Given the description of an element on the screen output the (x, y) to click on. 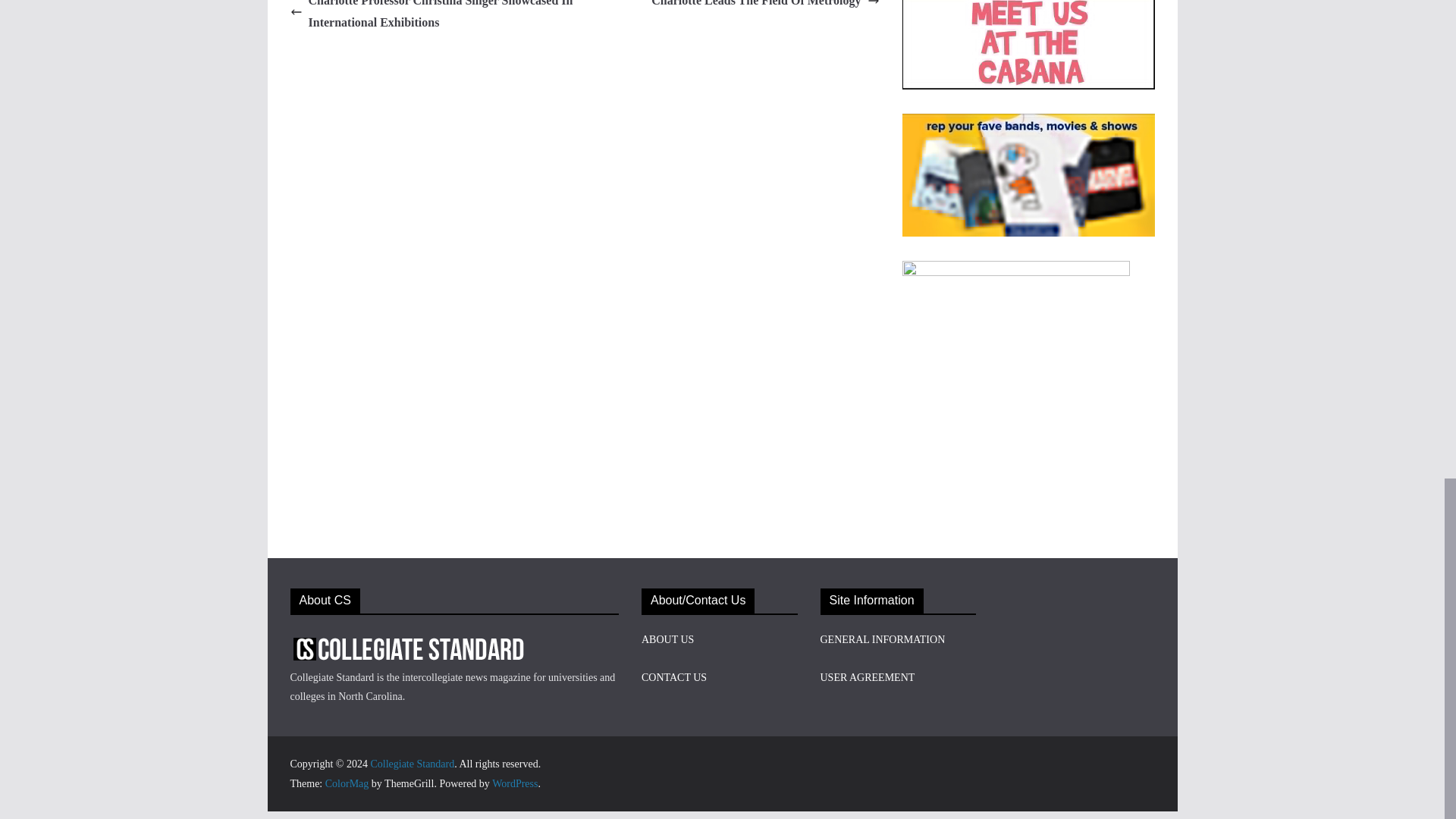
ColorMag (346, 783)
ABOUT US (668, 639)
Collegiate Standard (411, 763)
USER AGREEMENT (868, 677)
ColorMag (346, 783)
WordPress (514, 783)
CONTACT US (674, 677)
GENERAL INFORMATION (882, 639)
Collegiate Standard (411, 763)
Charlotte Leads The Field Of Metrology (764, 6)
